Given the description of an element on the screen output the (x, y) to click on. 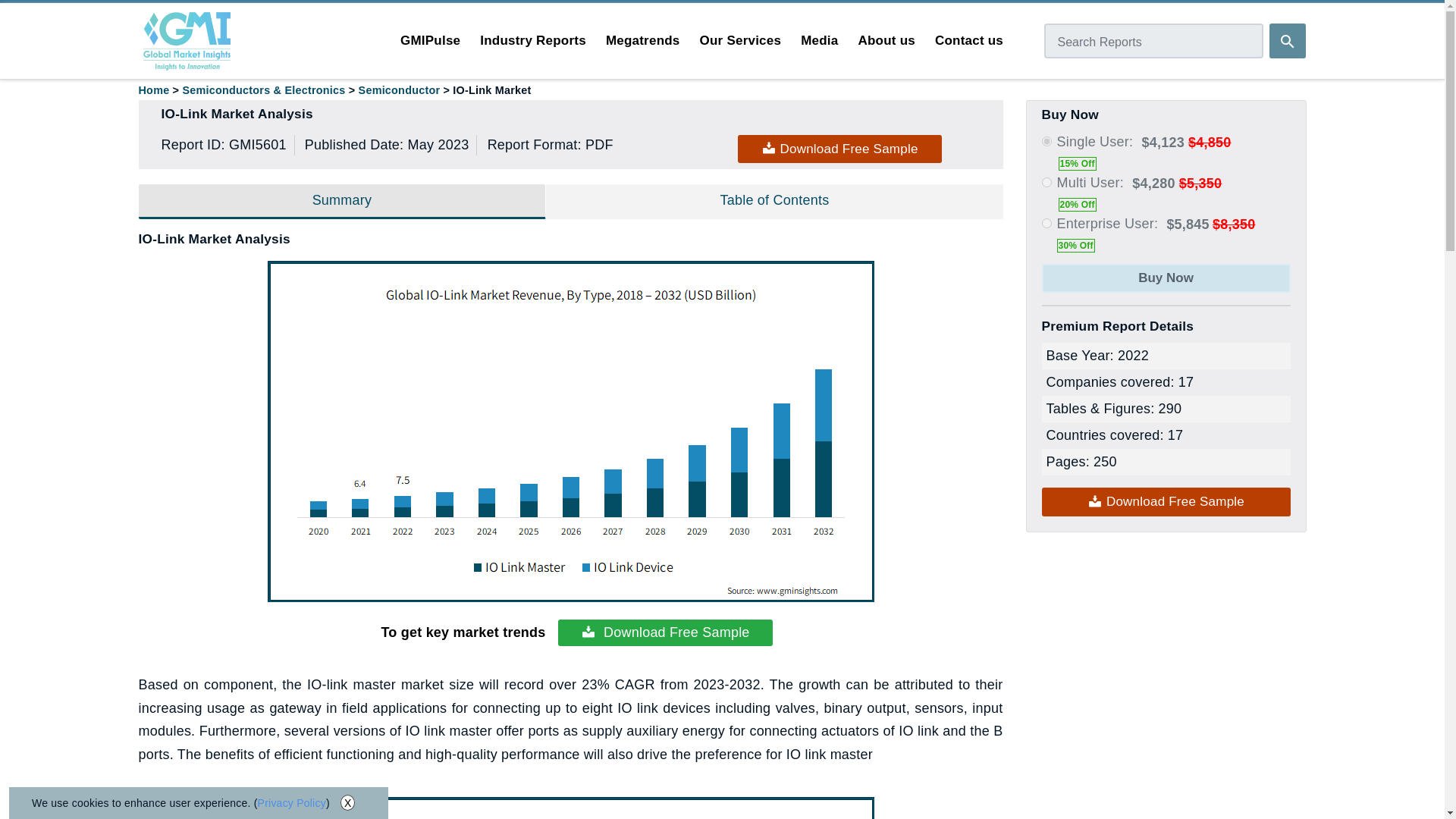
sugmp (1046, 141)
Logo (187, 40)
Global IO-Link Market Share, By Application, 2022 (569, 807)
mugmp (1046, 182)
eugmp (1046, 223)
